Given the description of an element on the screen output the (x, y) to click on. 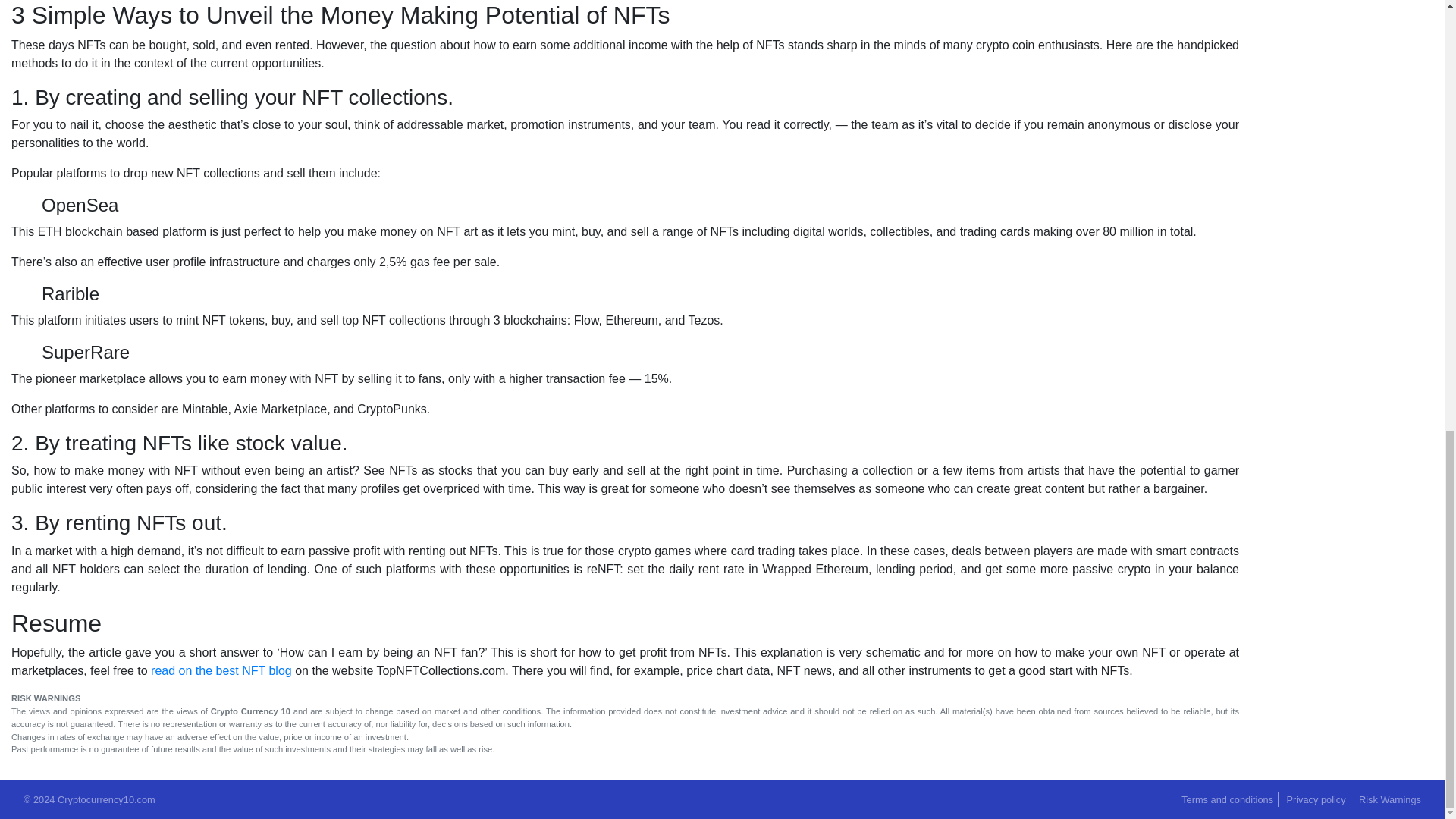
read on the best NFT blog (221, 670)
Terms and conditions (1226, 799)
Risk Warnings (1389, 799)
Privacy policy (1315, 799)
